Given the description of an element on the screen output the (x, y) to click on. 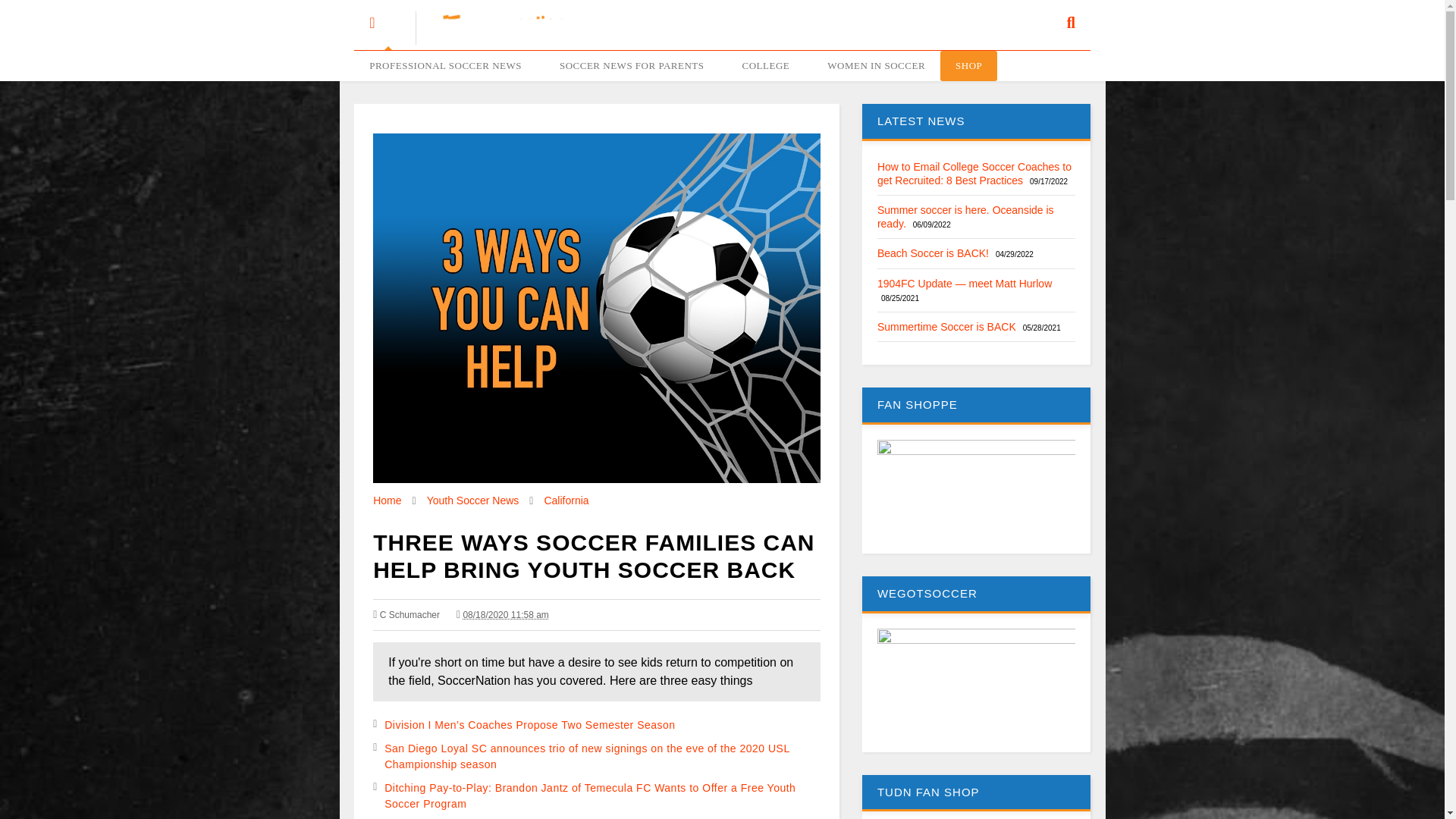
COLLEGE (769, 65)
SHOP (968, 65)
Youth Soccer News (472, 500)
PROFESSIONAL SOCCER NEWS (448, 65)
2021-02-05T15:22:39-08:00 (502, 614)
SoccerNation (490, 38)
SEARCH (1061, 15)
